Given the description of an element on the screen output the (x, y) to click on. 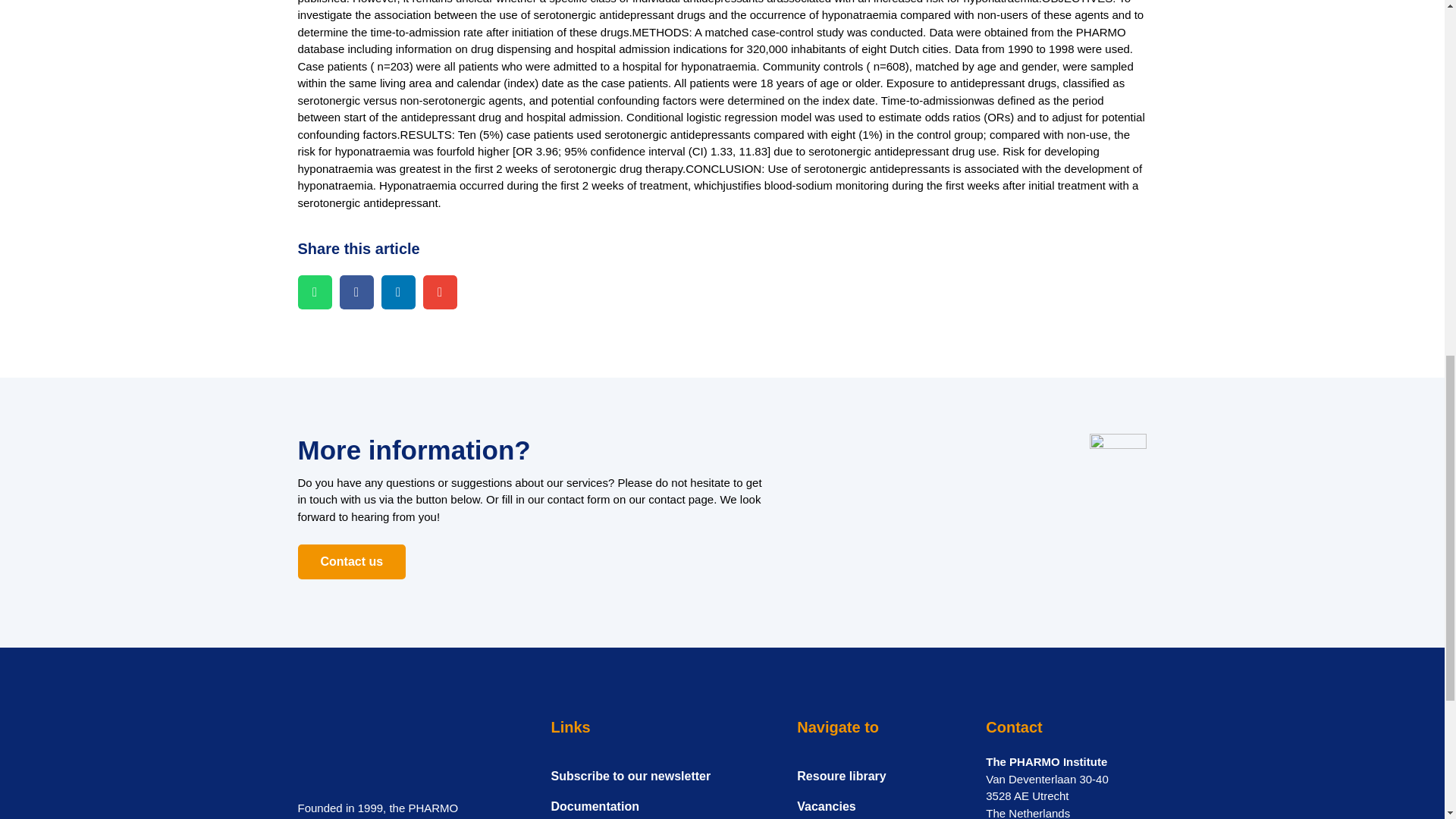
Contact us (351, 561)
Subscribe to our newsletter (665, 776)
Documentation (665, 806)
Resoure library (883, 776)
Vacancies (883, 806)
